Given the description of an element on the screen output the (x, y) to click on. 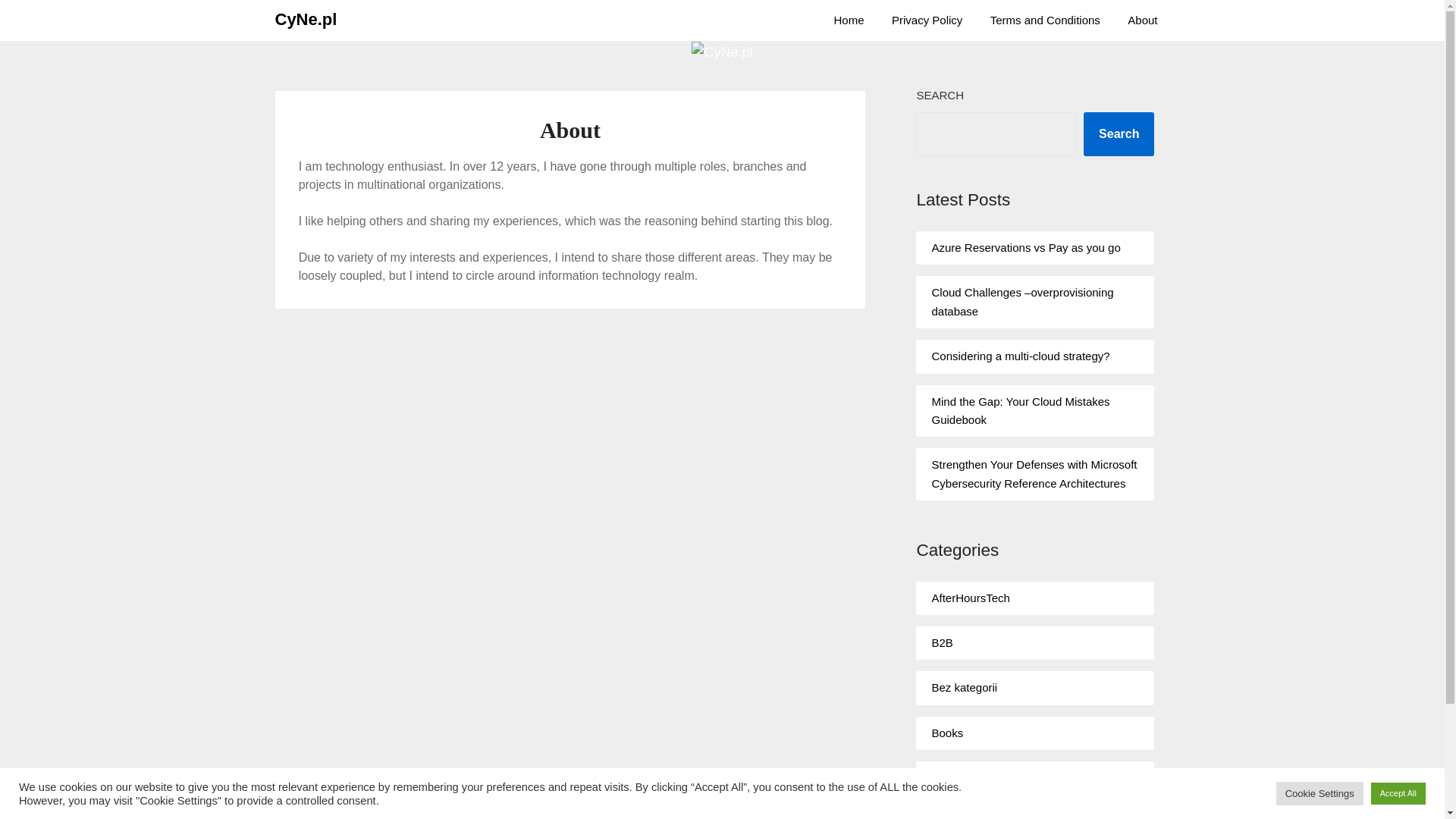
AfterHoursTech (970, 597)
Search (1118, 134)
Privacy Policy (926, 20)
Considering a multi-cloud strategy? (1020, 355)
B2B (941, 642)
CyNe.pl (305, 19)
Mind the Gap: Your Cloud Mistakes Guidebook (1020, 409)
About (1142, 20)
Cookie Settings (1319, 793)
